Given the description of an element on the screen output the (x, y) to click on. 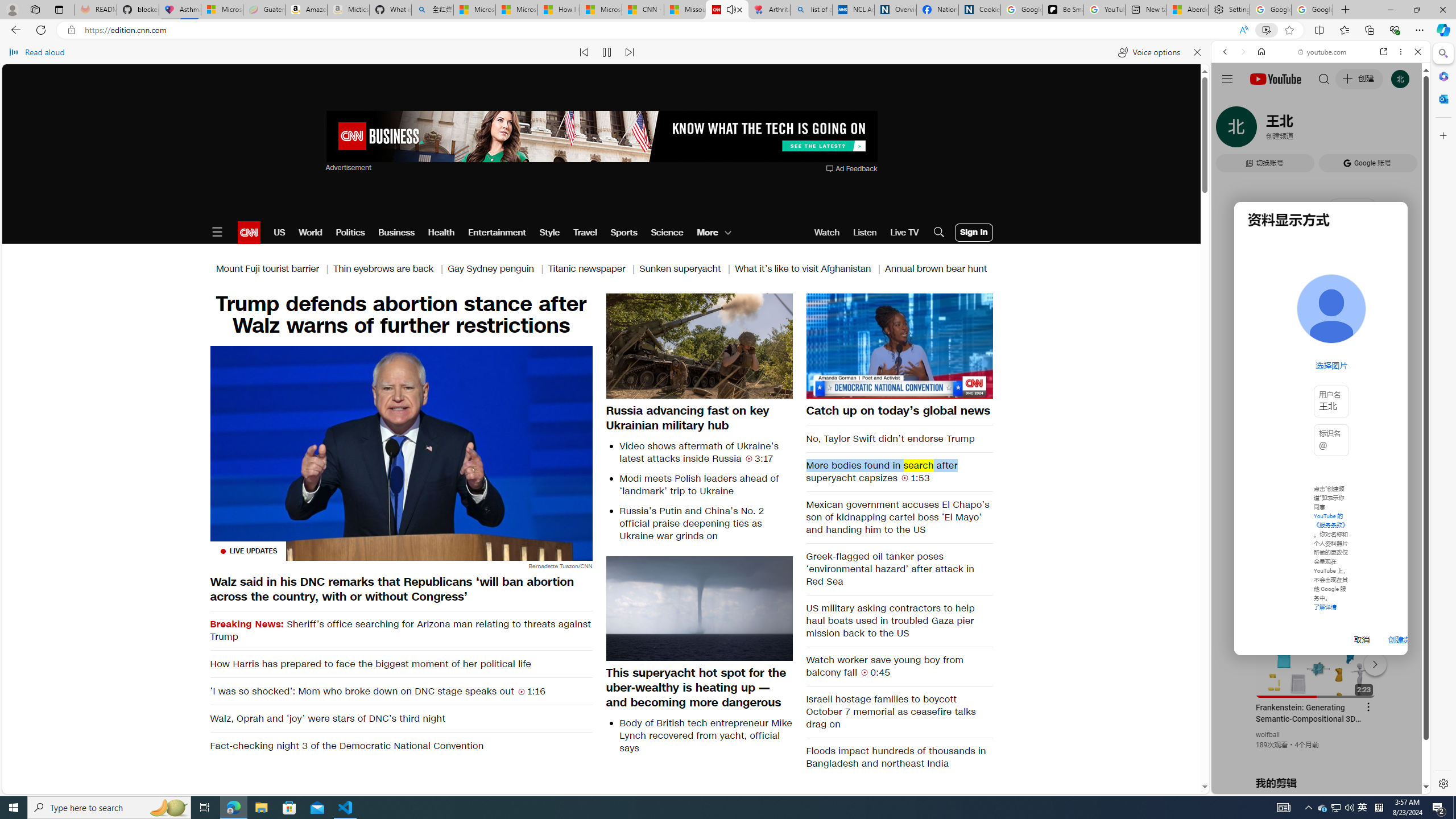
wolfball (1268, 734)
More bodies found in search after superyacht capsizes 1:53 (899, 471)
Mute (821, 389)
